Given the description of an element on the screen output the (x, y) to click on. 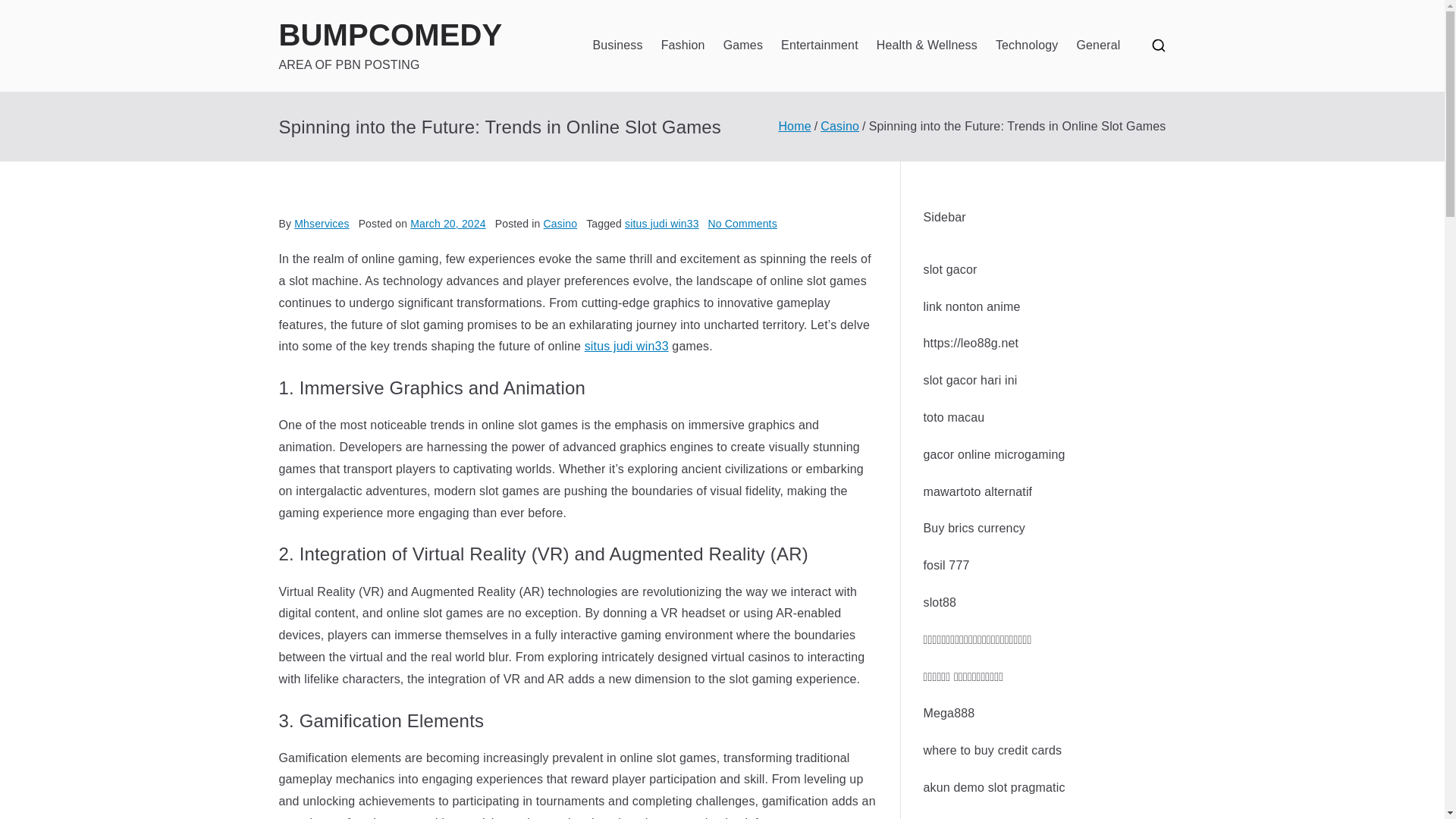
Games (742, 45)
slot gacor (949, 269)
Fashion (682, 45)
Business (617, 45)
toto macau (954, 417)
General (1097, 45)
March 20, 2024 (448, 223)
Casino (560, 223)
Home (793, 125)
Search (26, 12)
situs judi win33 (626, 345)
link nonton anime (971, 306)
BUMPCOMEDY (390, 34)
slot gacor hari ini (970, 379)
